Given the description of an element on the screen output the (x, y) to click on. 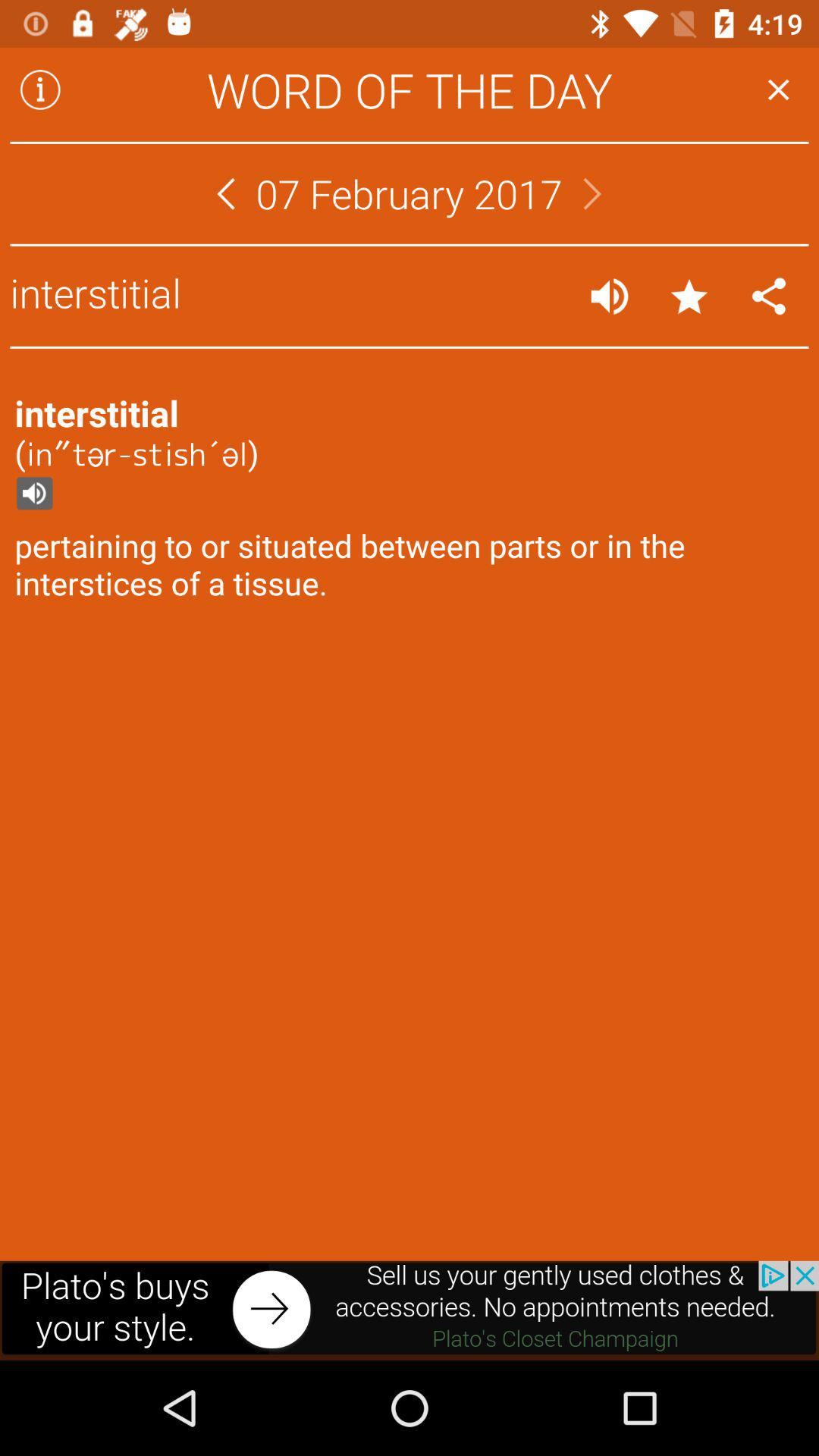
move to different day (225, 193)
